Given the description of an element on the screen output the (x, y) to click on. 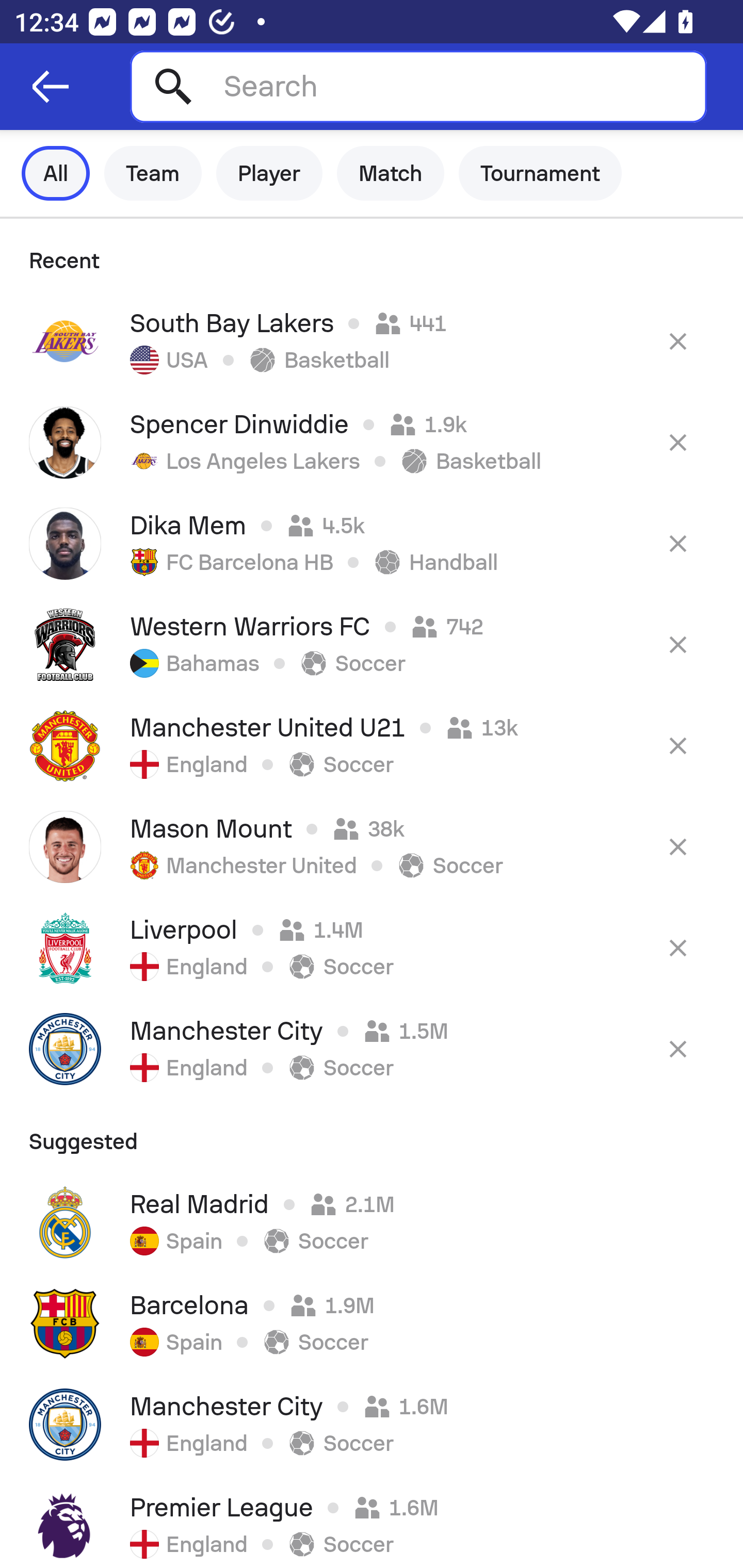
Navigate up (50, 86)
Search (418, 86)
All (55, 172)
Team (152, 172)
Player (268, 172)
Match (390, 172)
Tournament (540, 172)
Recent (371, 254)
South Bay Lakers 441 USA Basketball (371, 341)
Dika Mem 4.5k FC Barcelona HB Handball (371, 543)
Western Warriors FC 742 Bahamas Soccer (371, 644)
Manchester United U21 13k England Soccer (371, 745)
Mason Mount 38k Manchester United Soccer (371, 846)
Liverpool 1.4M England Soccer (371, 947)
Manchester City 1.5M England Soccer (371, 1048)
Suggested (371, 1135)
Real Madrid 2.1M Spain Soccer (371, 1222)
Barcelona 1.9M Spain Soccer (371, 1323)
Manchester City 1.6M England Soccer (371, 1424)
Premier League 1.6M England Soccer (371, 1521)
